Given the description of an element on the screen output the (x, y) to click on. 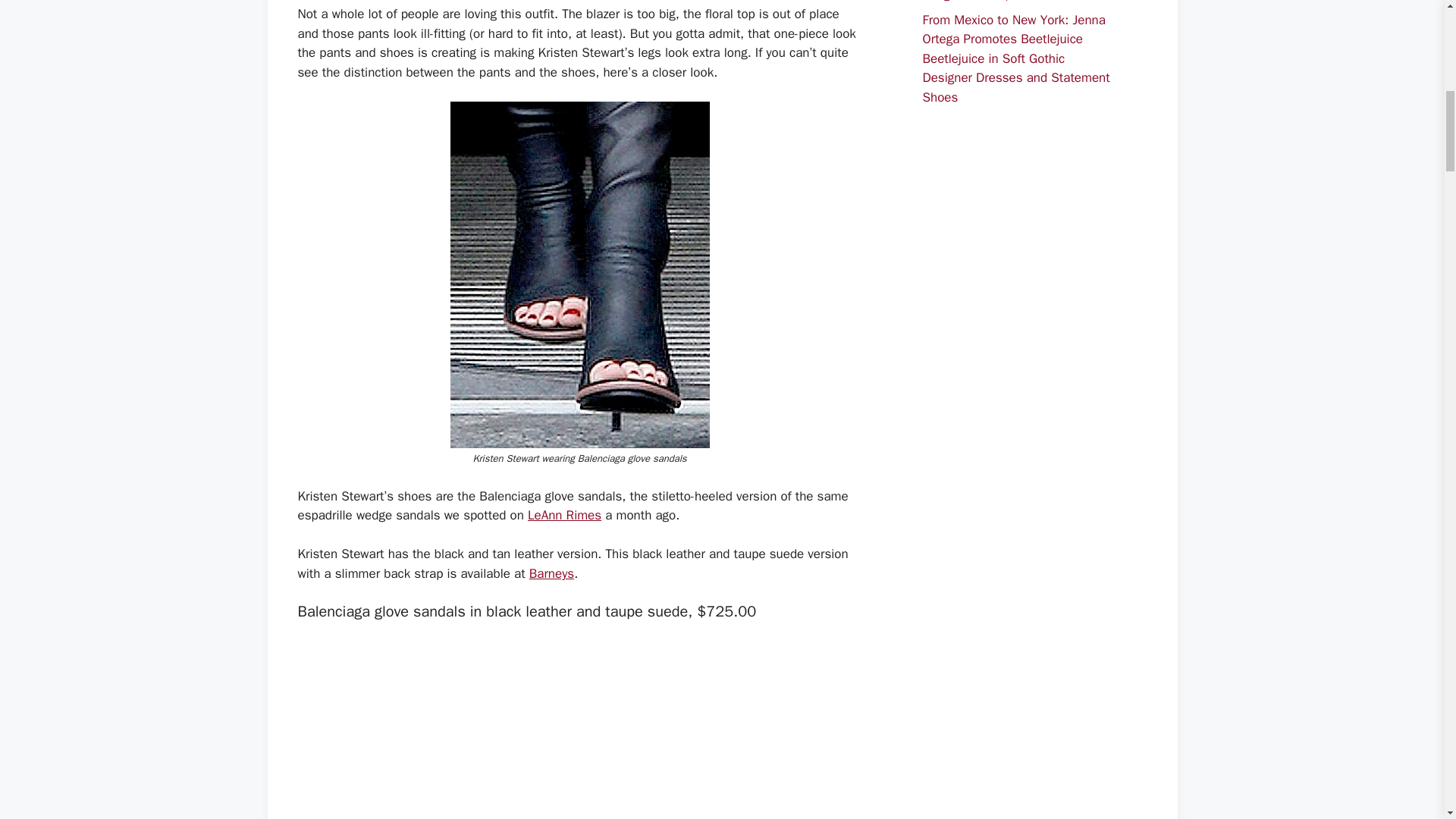
Barneys (551, 573)
LeAnn Rimes (564, 514)
Balenciaga glove sandals (579, 723)
